Given the description of an element on the screen output the (x, y) to click on. 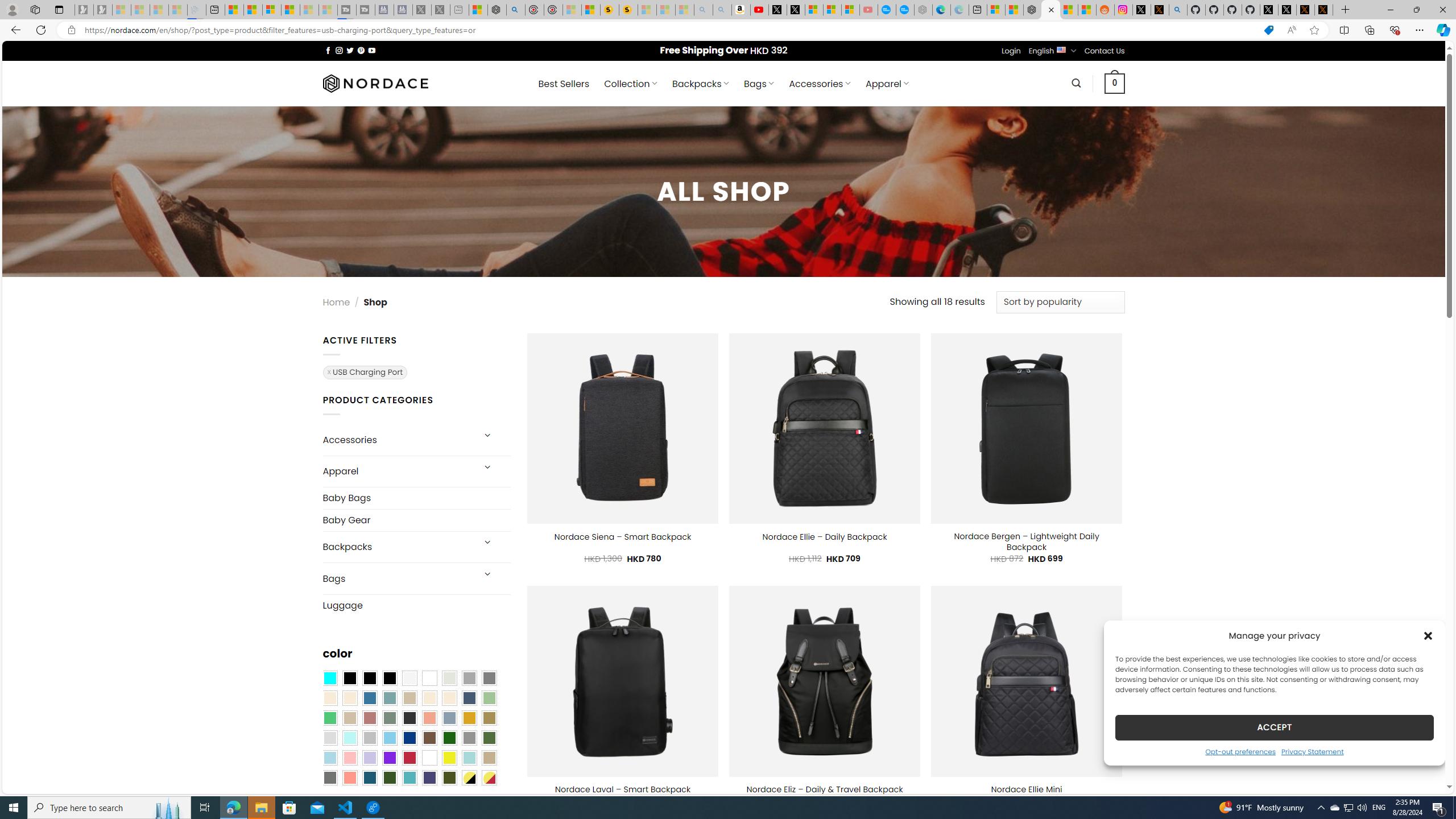
Privacy Statement (1312, 750)
App bar (728, 29)
Purple Navy (429, 777)
Backpacks (397, 546)
Split screen (1344, 29)
Brown (429, 737)
Follow on Pinterest (360, 49)
Contact Us (1104, 50)
Charcoal (408, 717)
Emerald Green (329, 717)
